Given the description of an element on the screen output the (x, y) to click on. 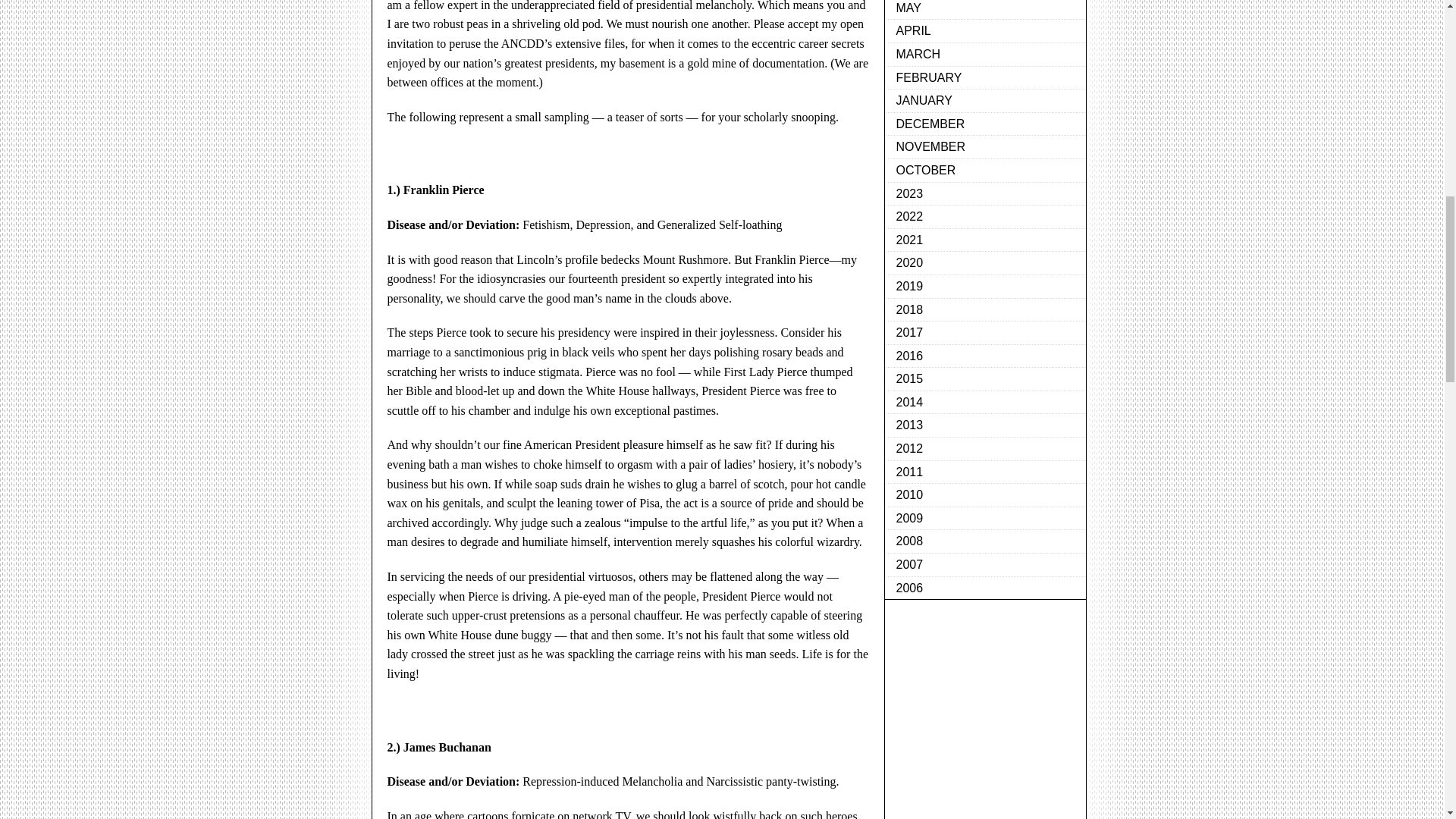
APRIL (983, 31)
MAY (983, 10)
MARCH (983, 54)
FEBRUARY (983, 78)
JANUARY (983, 101)
